Given the description of an element on the screen output the (x, y) to click on. 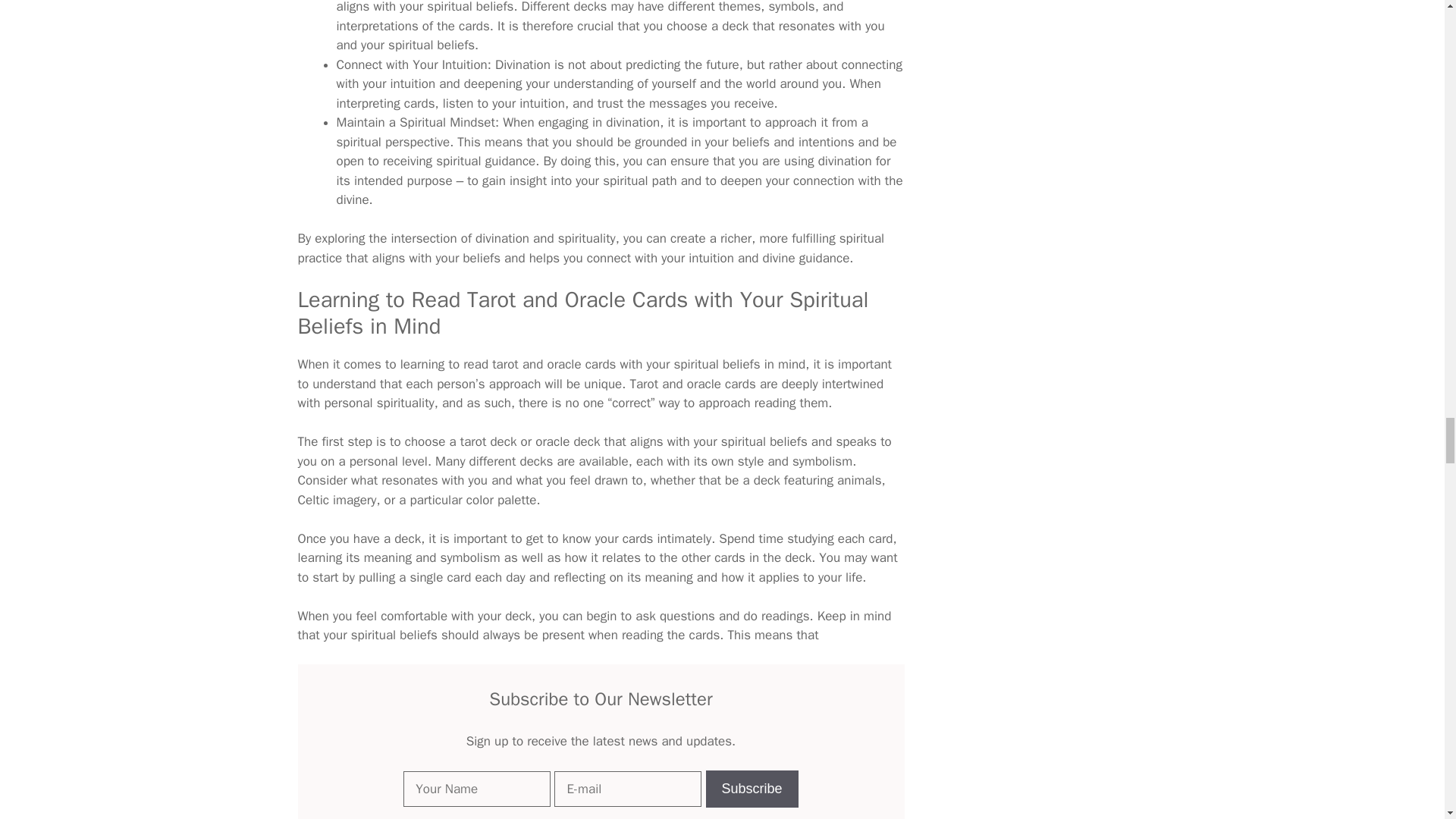
Subscribe (751, 788)
